Given the description of an element on the screen output the (x, y) to click on. 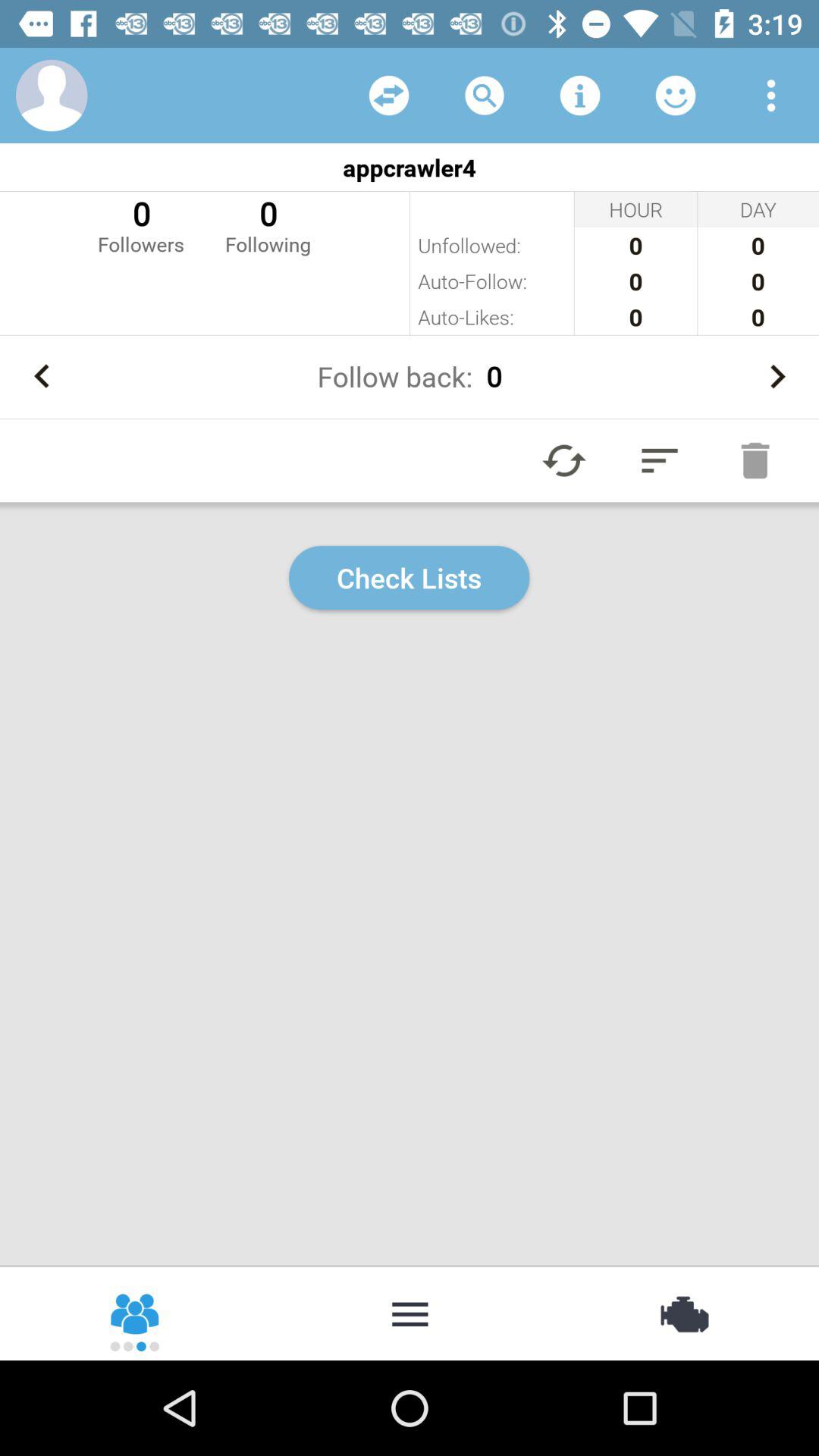
view profile (51, 95)
